Given the description of an element on the screen output the (x, y) to click on. 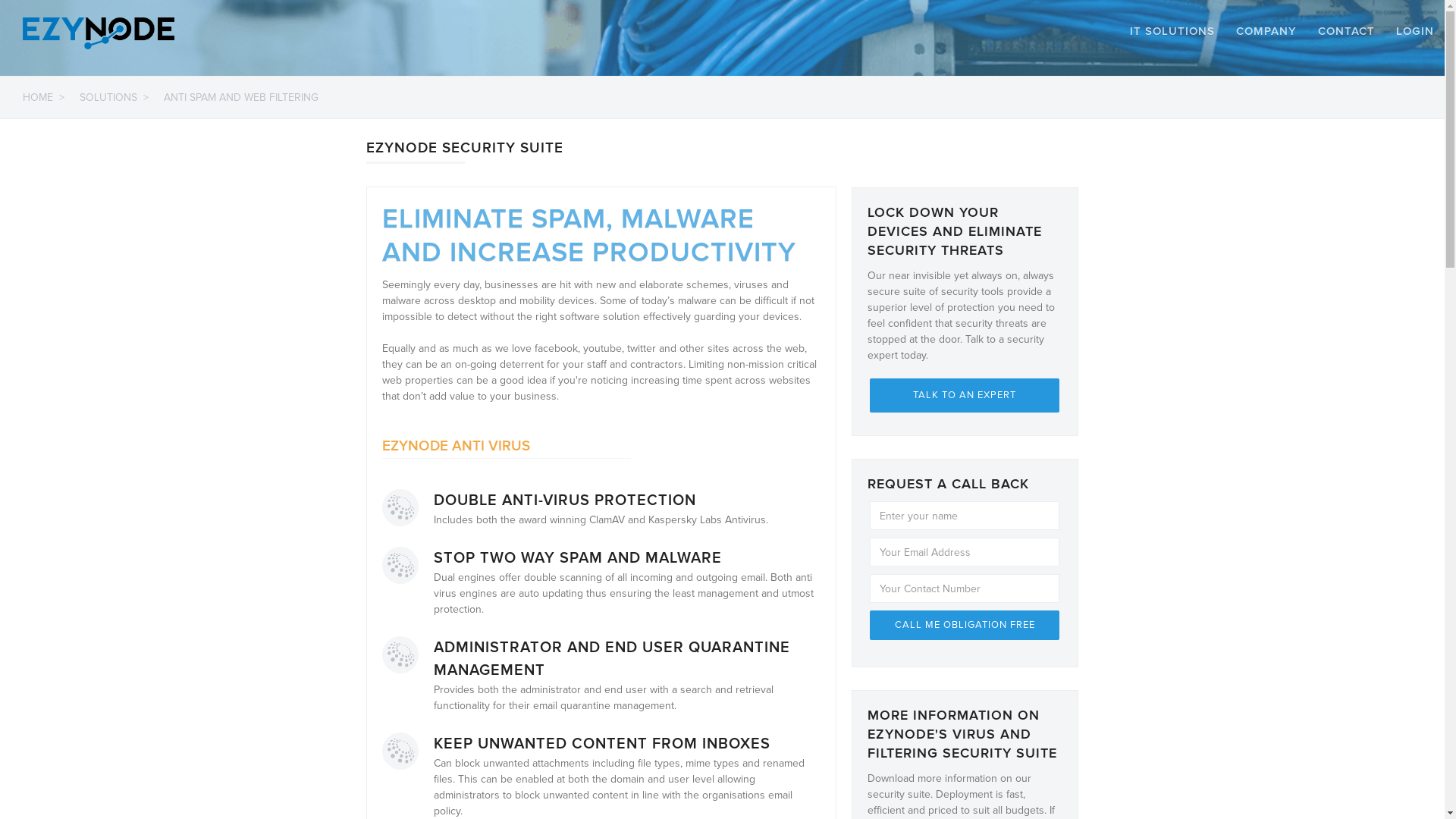
COMPANY Element type: text (1266, 30)
TALK TO AN EXPERT Element type: text (964, 395)
ANTI SPAM AND WEB FILTERING Element type: text (241, 97)
HOME  > Element type: text (39, 97)
CONTACT Element type: text (1346, 30)
LOGIN Element type: text (1414, 30)
CALL ME OBLIGATION FREE Element type: text (964, 625)
SOLUTIONS  > Element type: text (114, 97)
IT SOLUTIONS Element type: text (1172, 30)
